Given the description of an element on the screen output the (x, y) to click on. 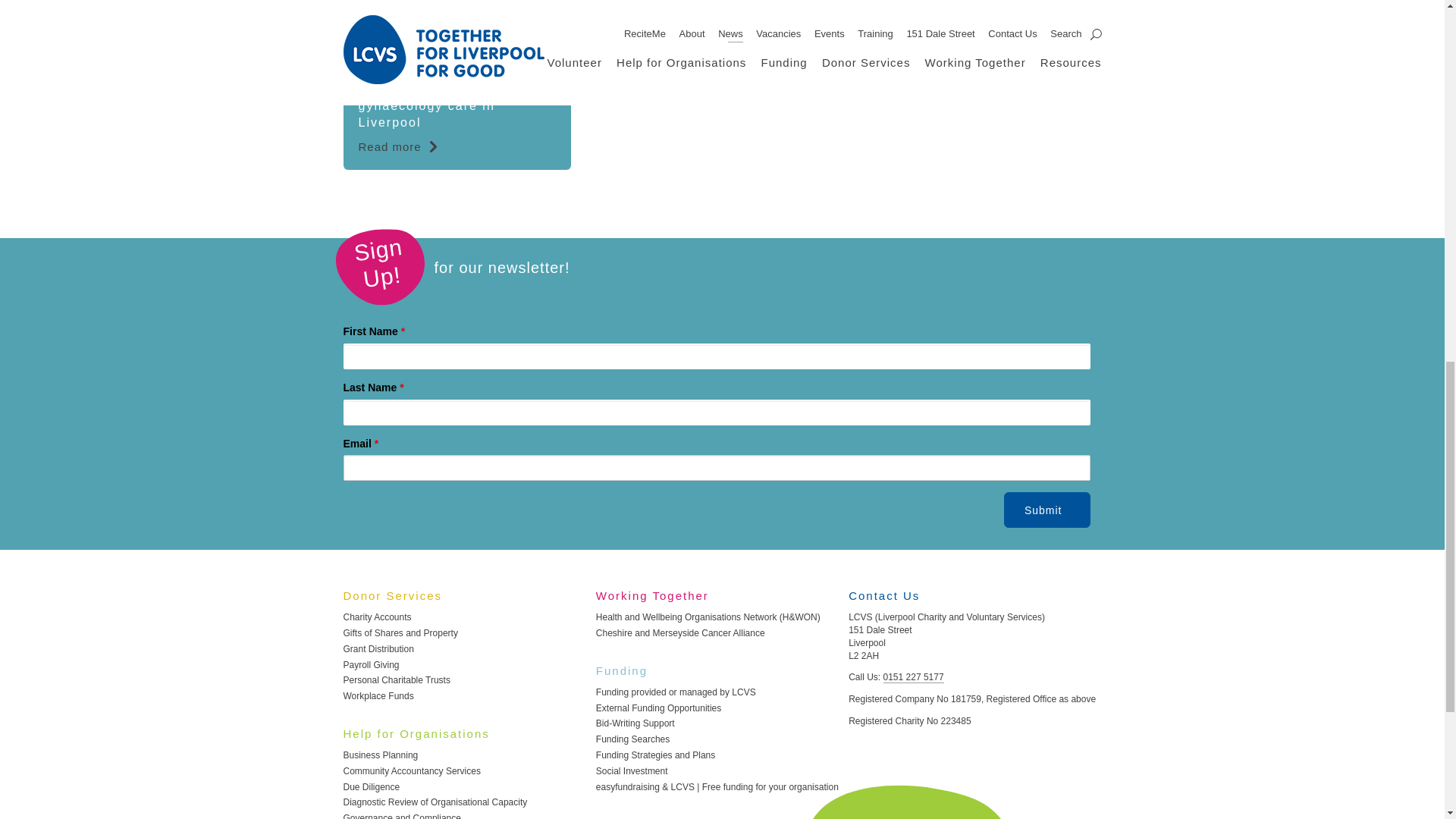
Back to blog (662, 55)
Submit (1047, 509)
